Given the description of an element on the screen output the (x, y) to click on. 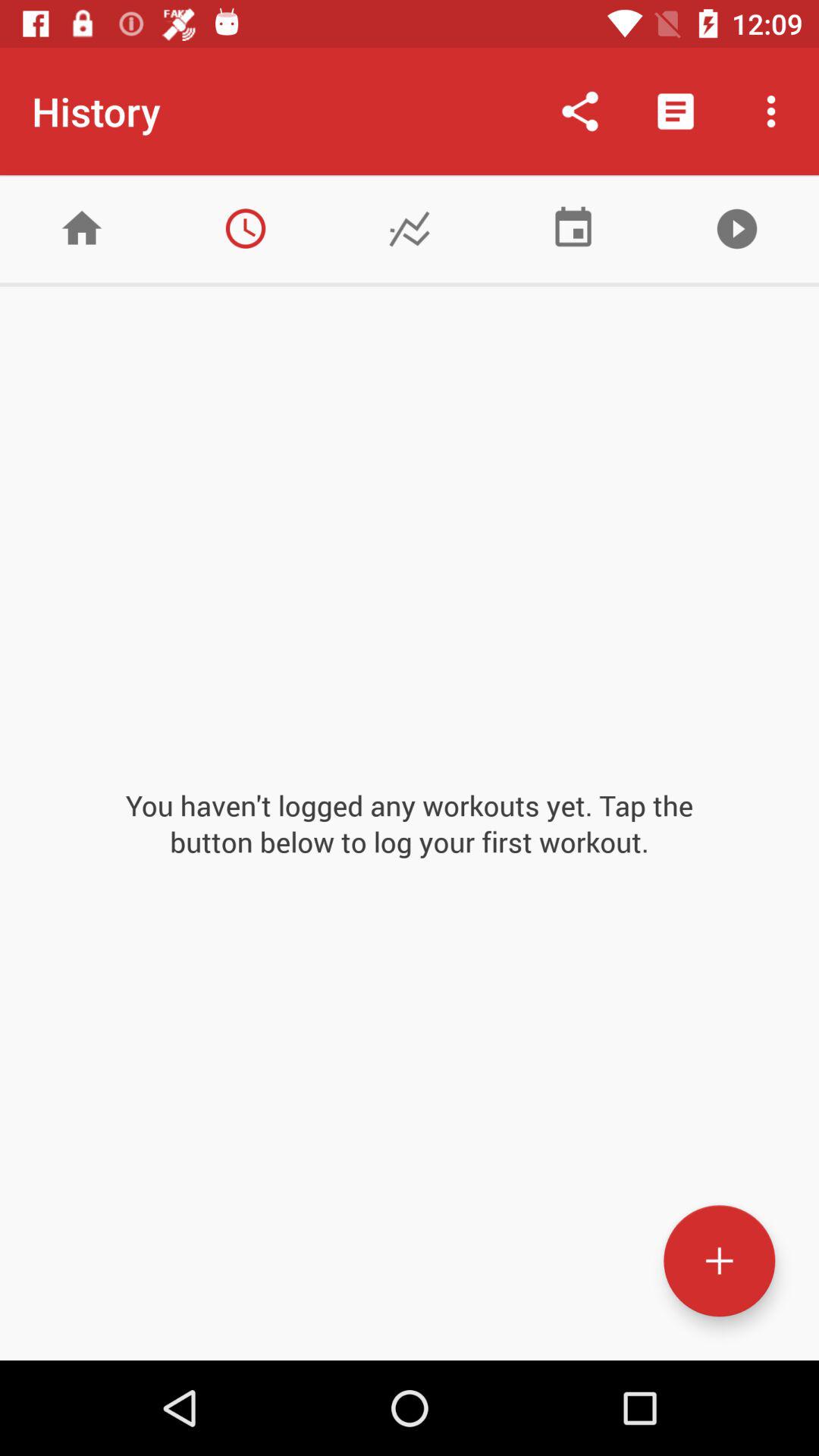
go to player (737, 228)
